Given the description of an element on the screen output the (x, y) to click on. 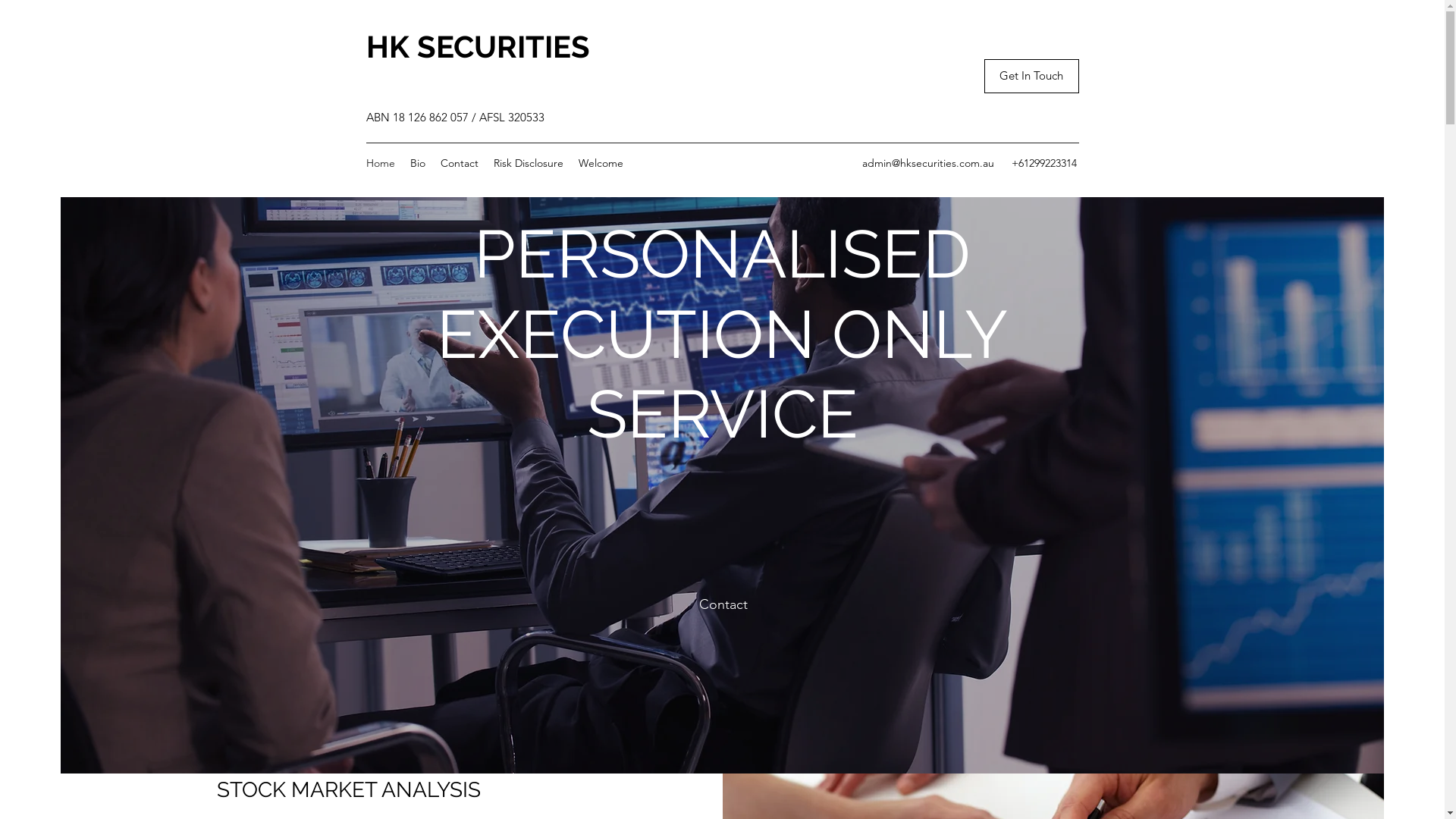
Welcome Element type: text (600, 162)
Risk Disclosure Element type: text (527, 162)
admin@hksecurities.com.au Element type: text (927, 162)
HK SECURITIES Element type: text (477, 46)
Contact Element type: text (458, 162)
Contact Element type: text (723, 604)
Get In Touch Element type: text (1031, 76)
Home Element type: text (379, 162)
Bio Element type: text (416, 162)
